Given the description of an element on the screen output the (x, y) to click on. 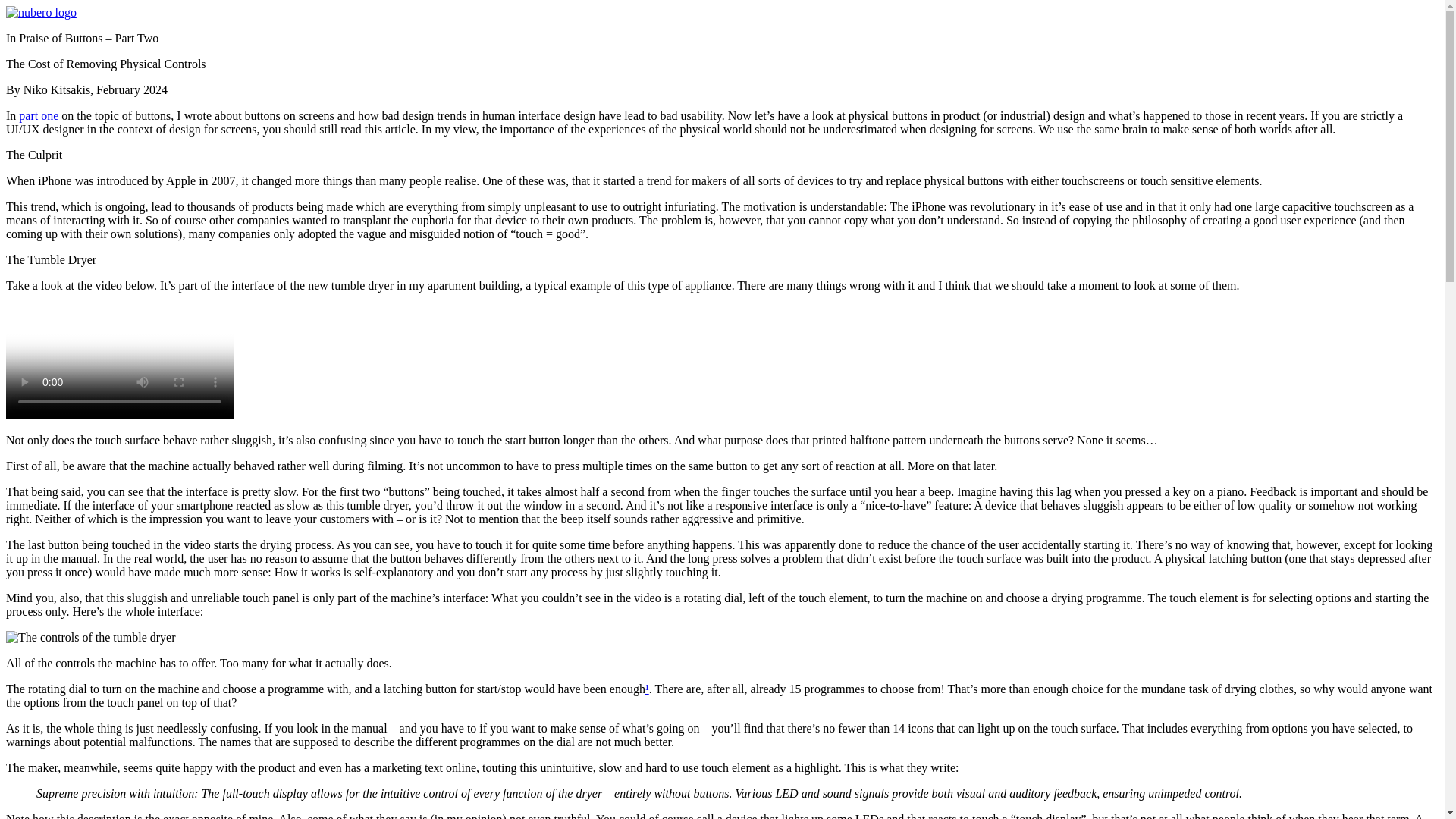
part one (38, 115)
